Given the description of an element on the screen output the (x, y) to click on. 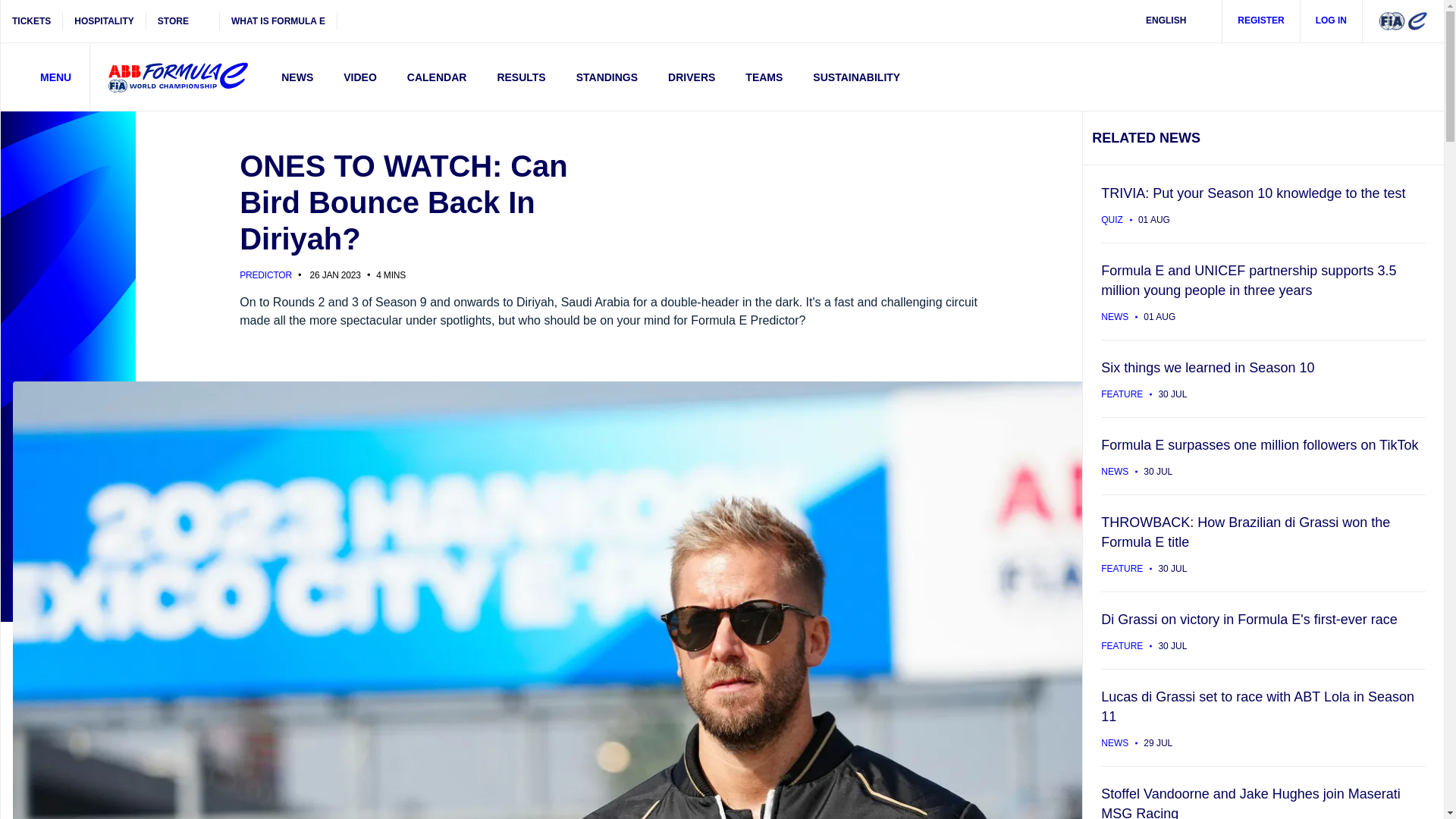
MENU (45, 76)
STORE (183, 21)
Formula E surpasses one million followers on TikTok (1262, 454)
RESULTS (520, 76)
NEWS (297, 76)
Six things we learned in Season 10 (1262, 377)
REGISTER (1261, 21)
WHAT IS FORMULA E (278, 21)
TRIVIA: Put your Season 10 knowledge to the test (1262, 203)
label.menu.home.link (177, 77)
TICKETS (31, 21)
Lucas di Grassi set to race with ABT Lola in Season 11 (1262, 717)
TEAMS (763, 76)
THROWBACK: How Brazilian di Grassi won the Formula E title (1262, 542)
DRIVERS (691, 76)
